Given the description of an element on the screen output the (x, y) to click on. 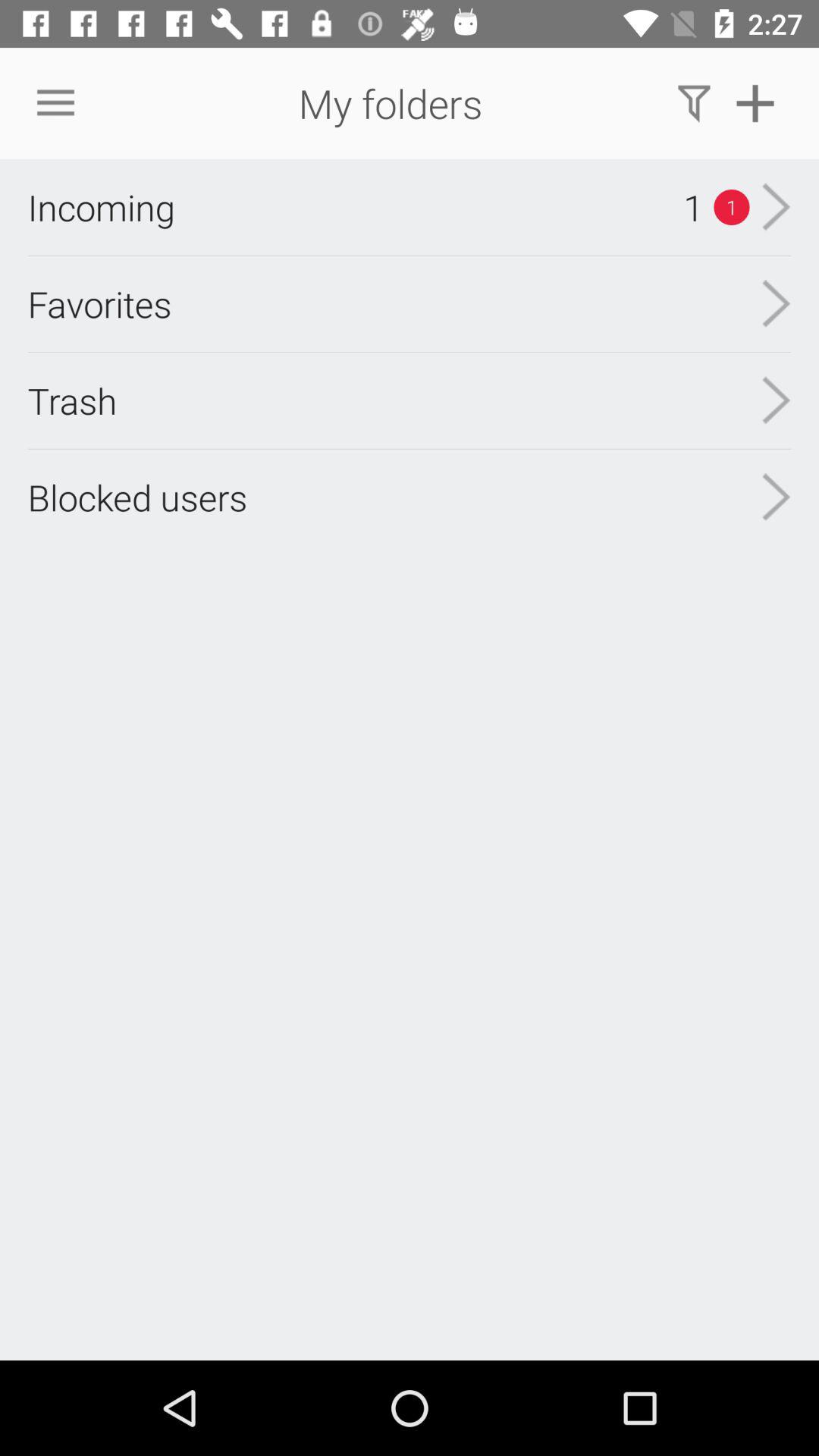
press item next to my folders item (55, 103)
